Given the description of an element on the screen output the (x, y) to click on. 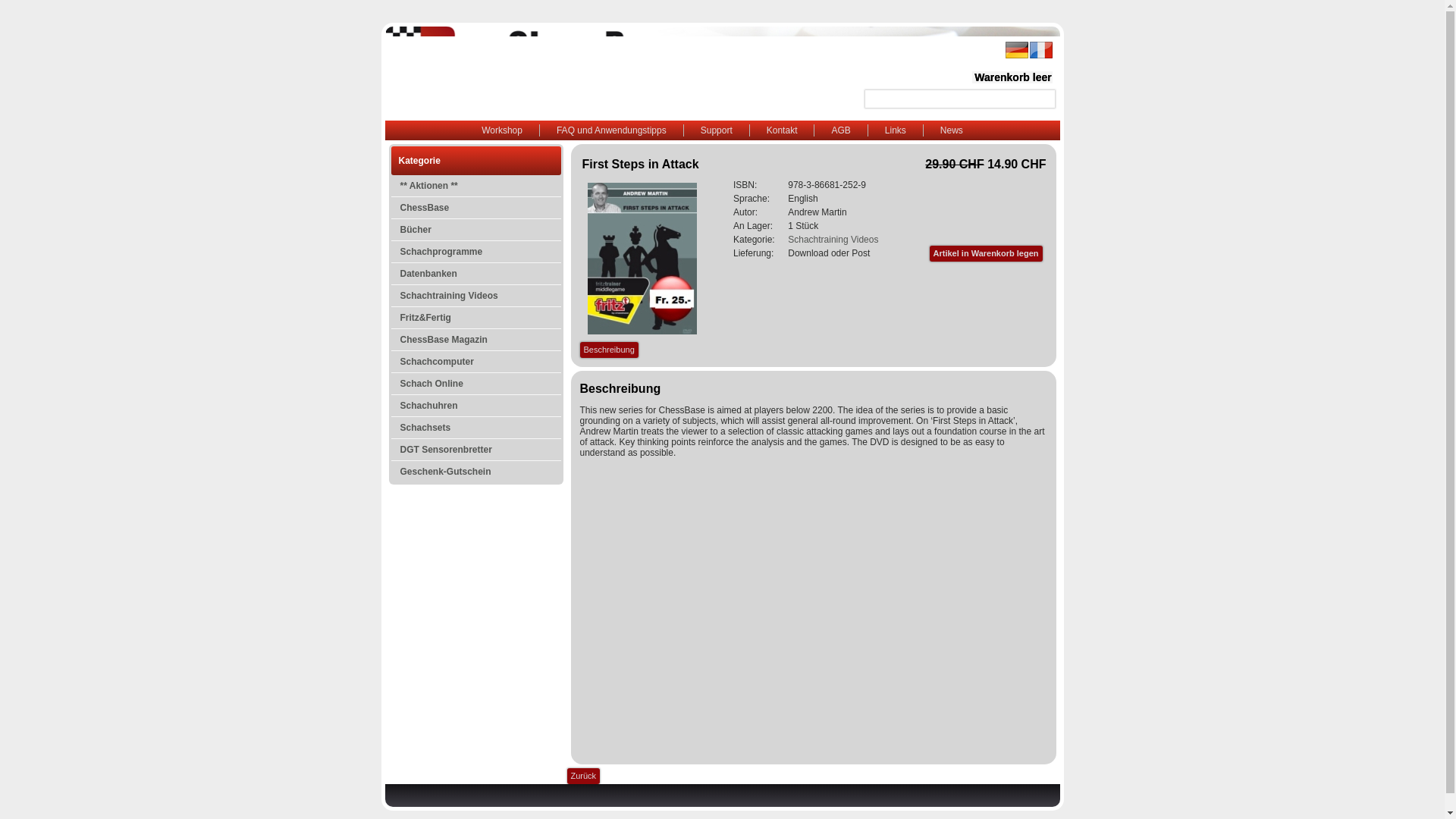
Schachcomputer (475, 361)
Schach Online (475, 383)
Support (716, 130)
Schachsets (475, 427)
Beschreibung (608, 349)
DGT Sensorenbretter (475, 449)
ChessBase Magazin (475, 339)
Workshop (501, 130)
Schachtraining Videos (475, 295)
News (951, 130)
ChessBase (475, 207)
Links (895, 130)
FAQ und Anwendungstipps (611, 130)
Schachprogramme (475, 251)
Schachtraining Videos (832, 239)
